Given the description of an element on the screen output the (x, y) to click on. 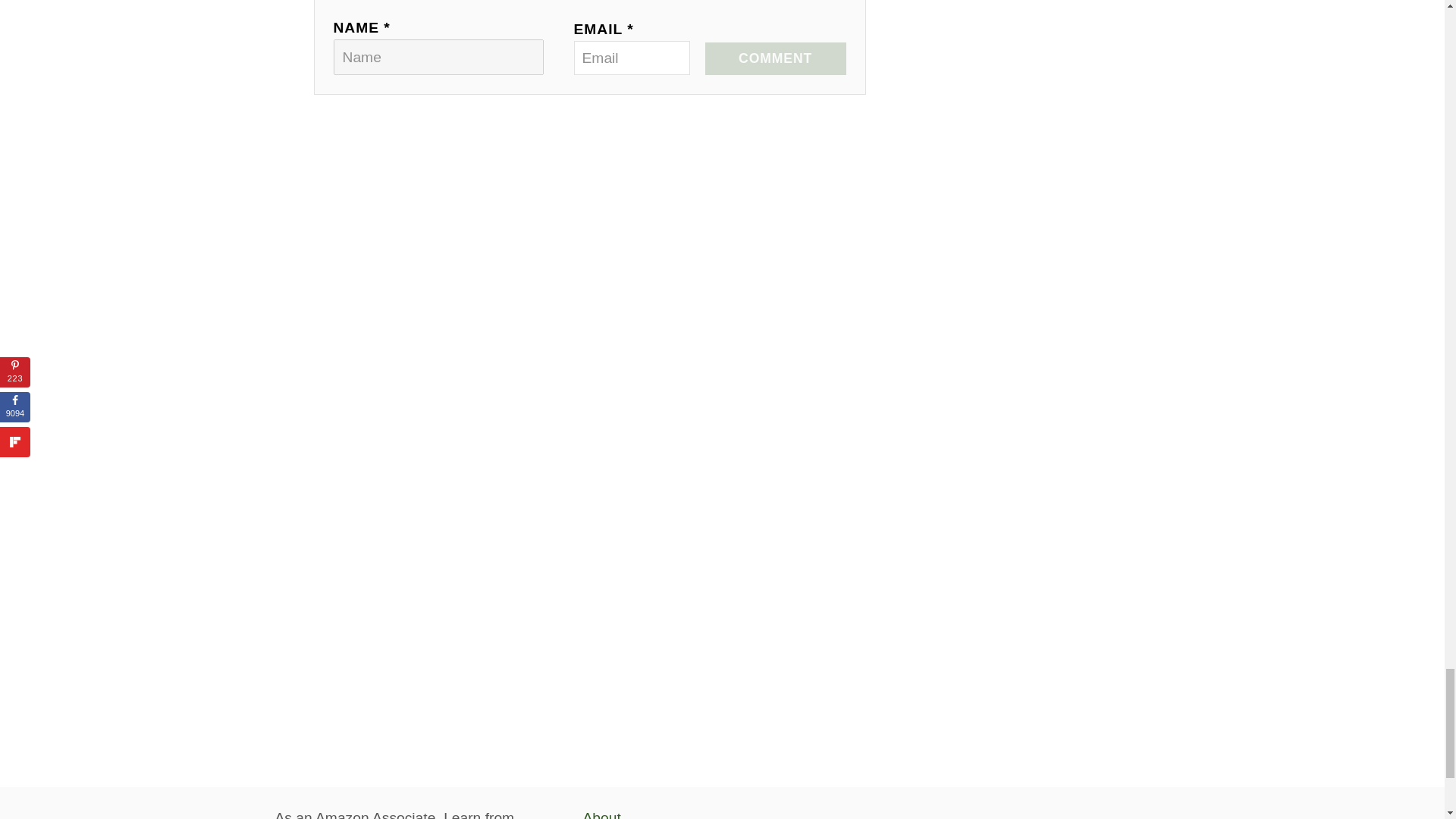
COMMENT (774, 58)
